Given the description of an element on the screen output the (x, y) to click on. 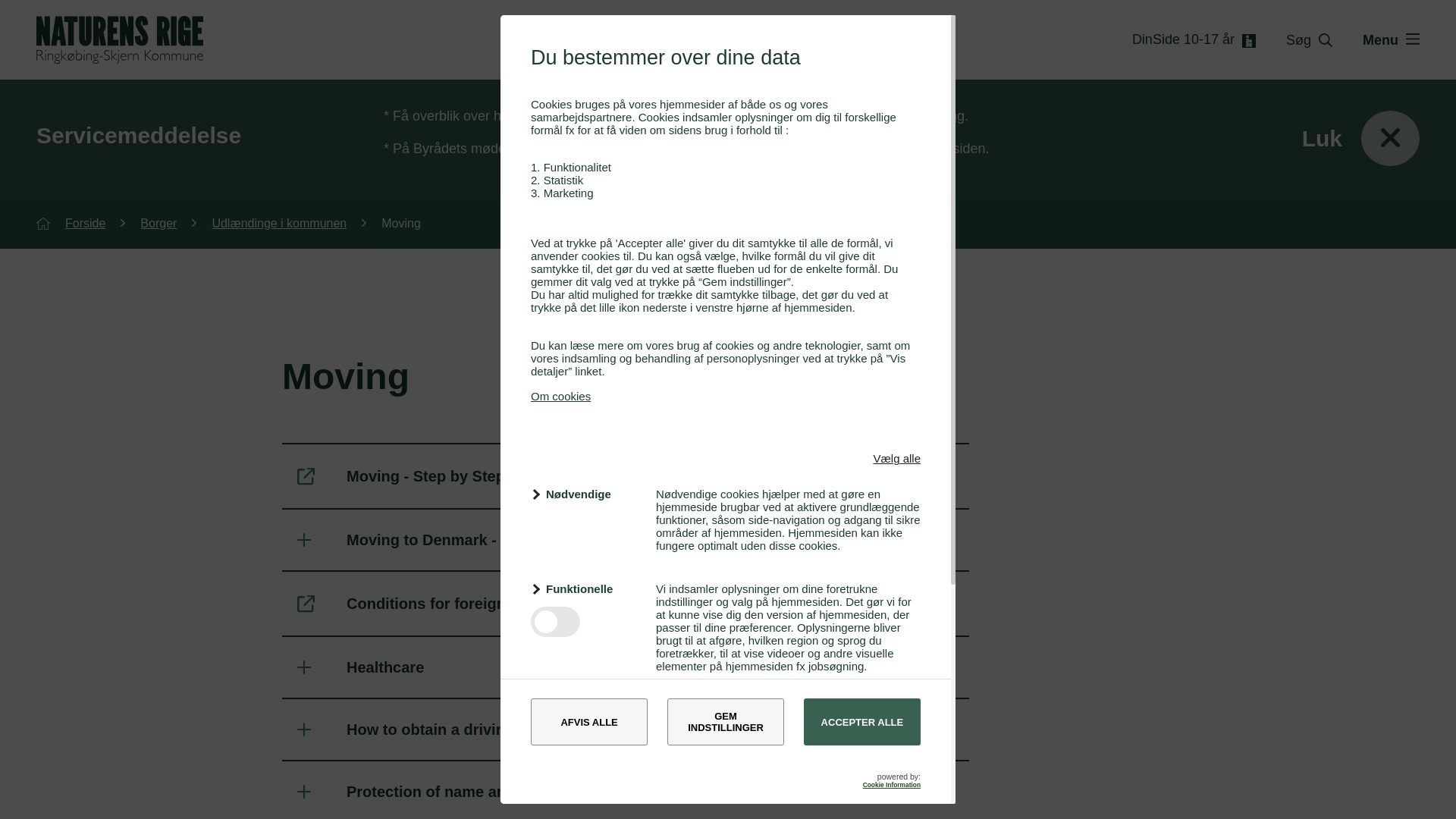
AFVIS ALLE (589, 721)
Cookie Information (891, 784)
Statistiske (584, 709)
GEM INDSTILLINGER (725, 721)
ACCEPTER ALLE (861, 721)
Funktionelle (584, 588)
Om cookies (561, 395)
